Given the description of an element on the screen output the (x, y) to click on. 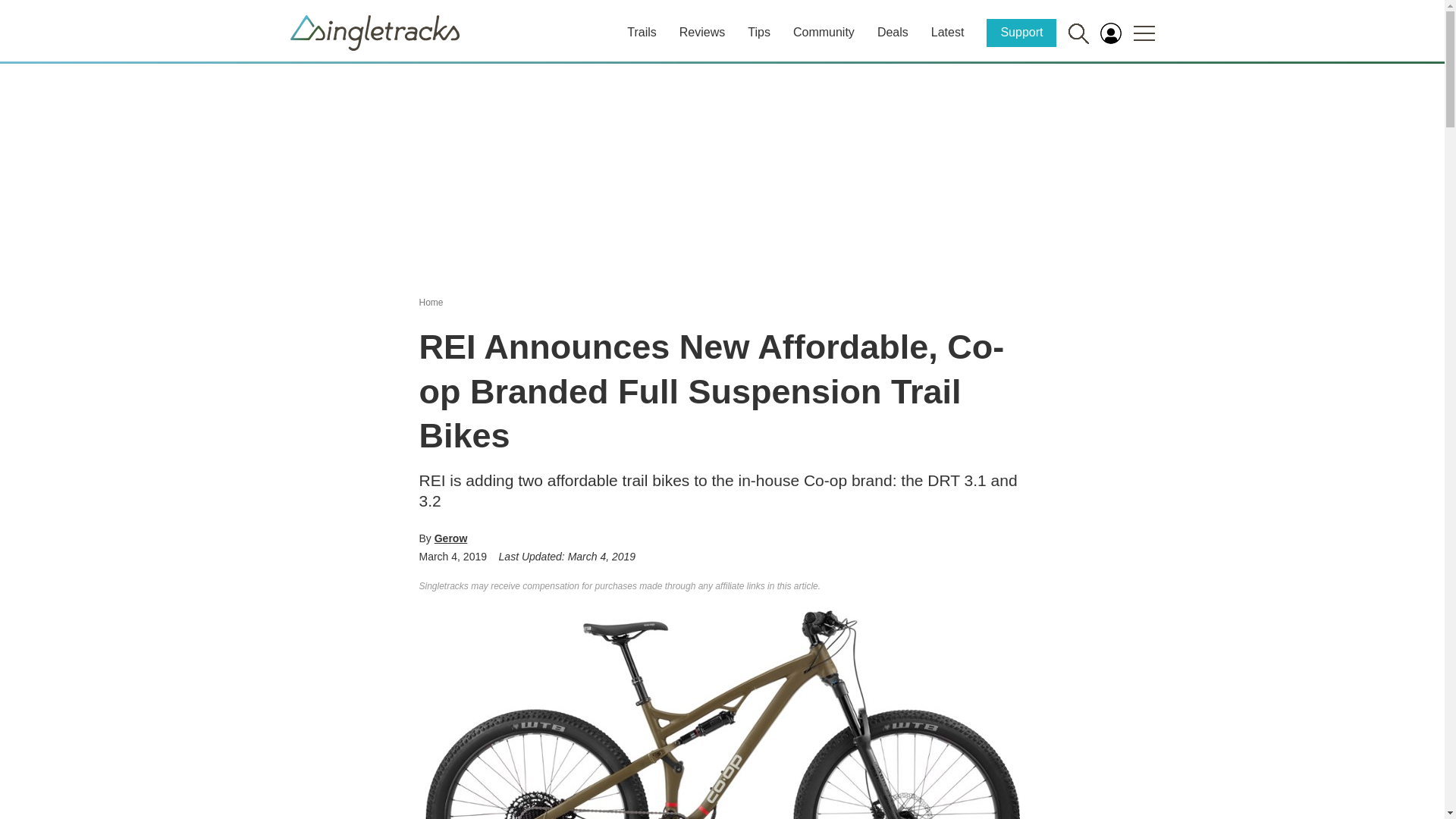
Deals (892, 31)
Trails (641, 31)
Reviews (702, 31)
Tips (759, 31)
Latest (947, 31)
View all posts by Gerow (450, 538)
Community (823, 31)
Support (1022, 32)
